Given the description of an element on the screen output the (x, y) to click on. 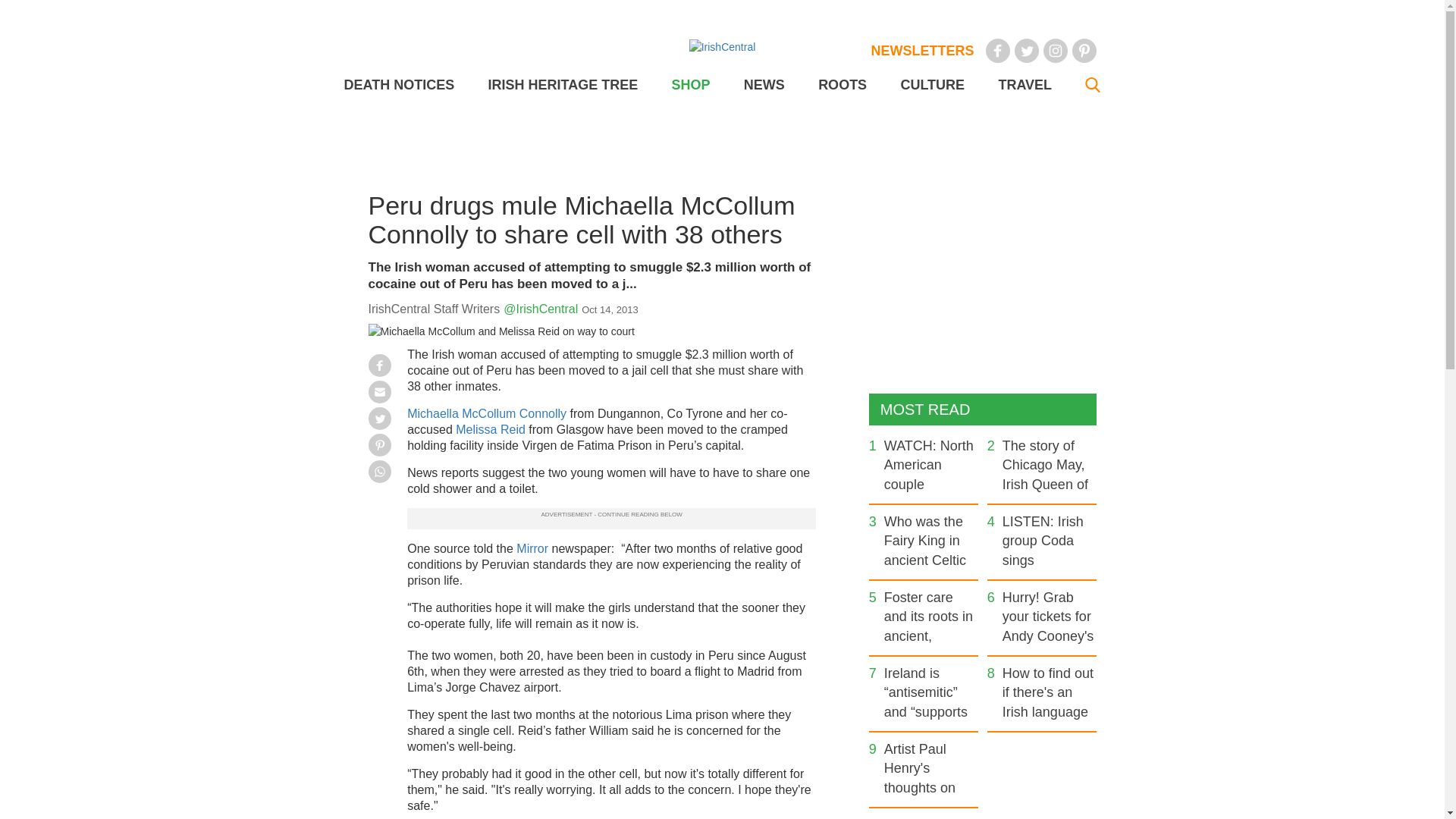
NEWSLETTERS (922, 50)
DEATH NOTICES (398, 84)
NEWS (764, 84)
SHOP (690, 84)
ROOTS (842, 84)
TRAVEL (1024, 84)
CULTURE (931, 84)
IRISH HERITAGE TREE (562, 84)
